Given the description of an element on the screen output the (x, y) to click on. 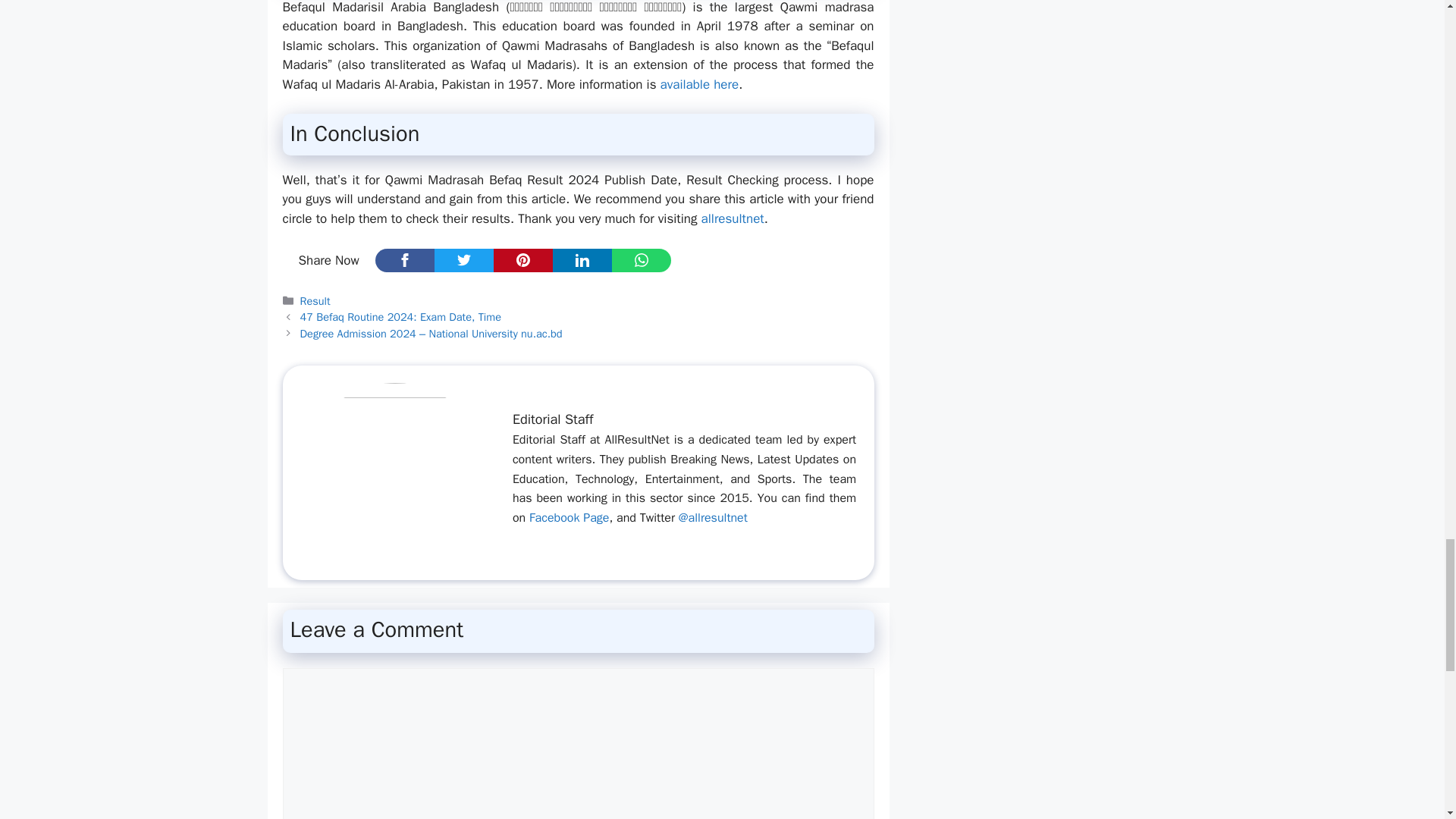
Result (314, 300)
available here (700, 84)
47 Befaq Routine 2024: Exam Date, Time (399, 316)
Facebook Page (568, 517)
allresultnet (732, 218)
